Given the description of an element on the screen output the (x, y) to click on. 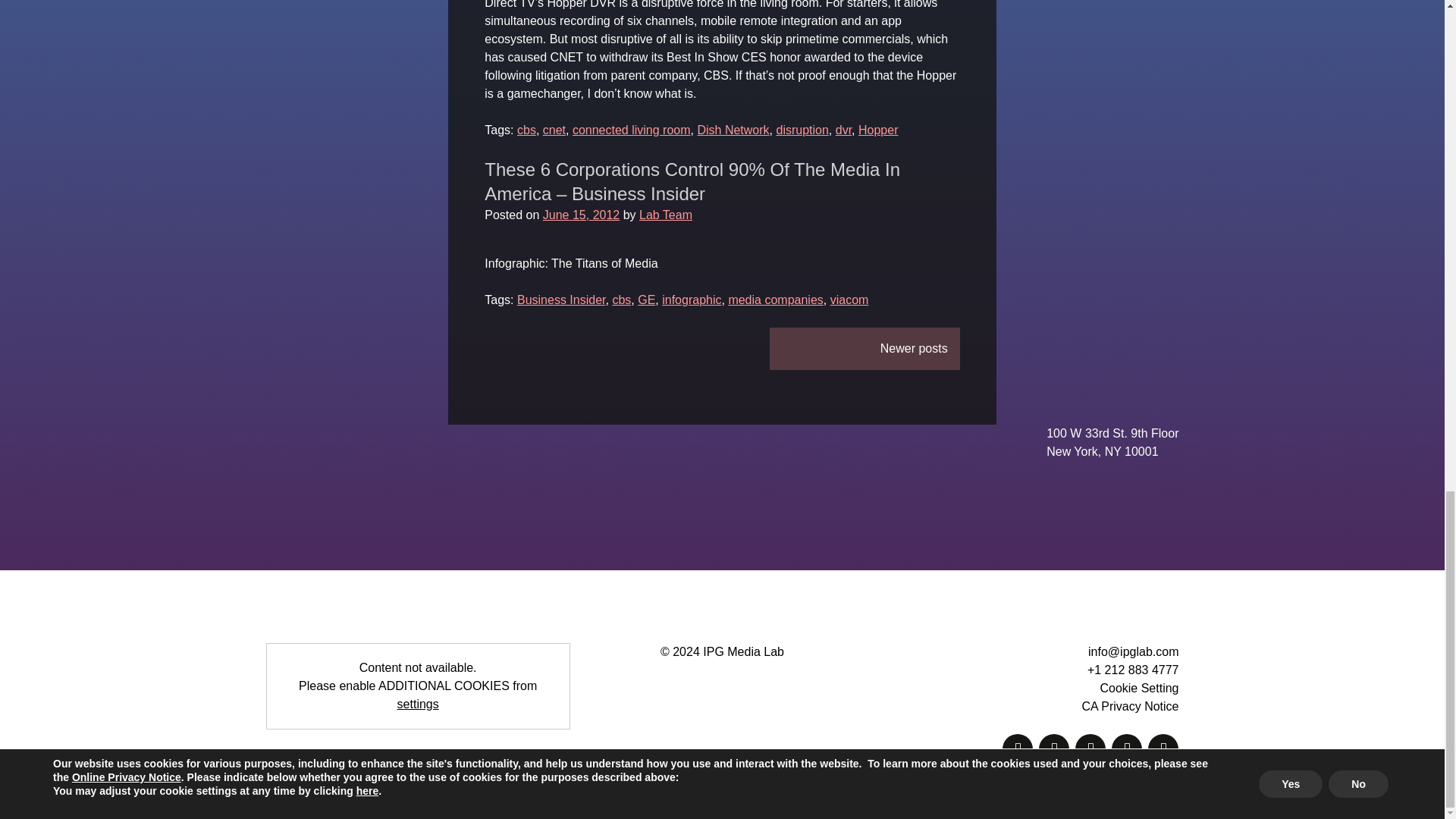
Dish Network (732, 129)
connected living room (631, 129)
cnet (554, 129)
cbs (525, 129)
